Given the description of an element on the screen output the (x, y) to click on. 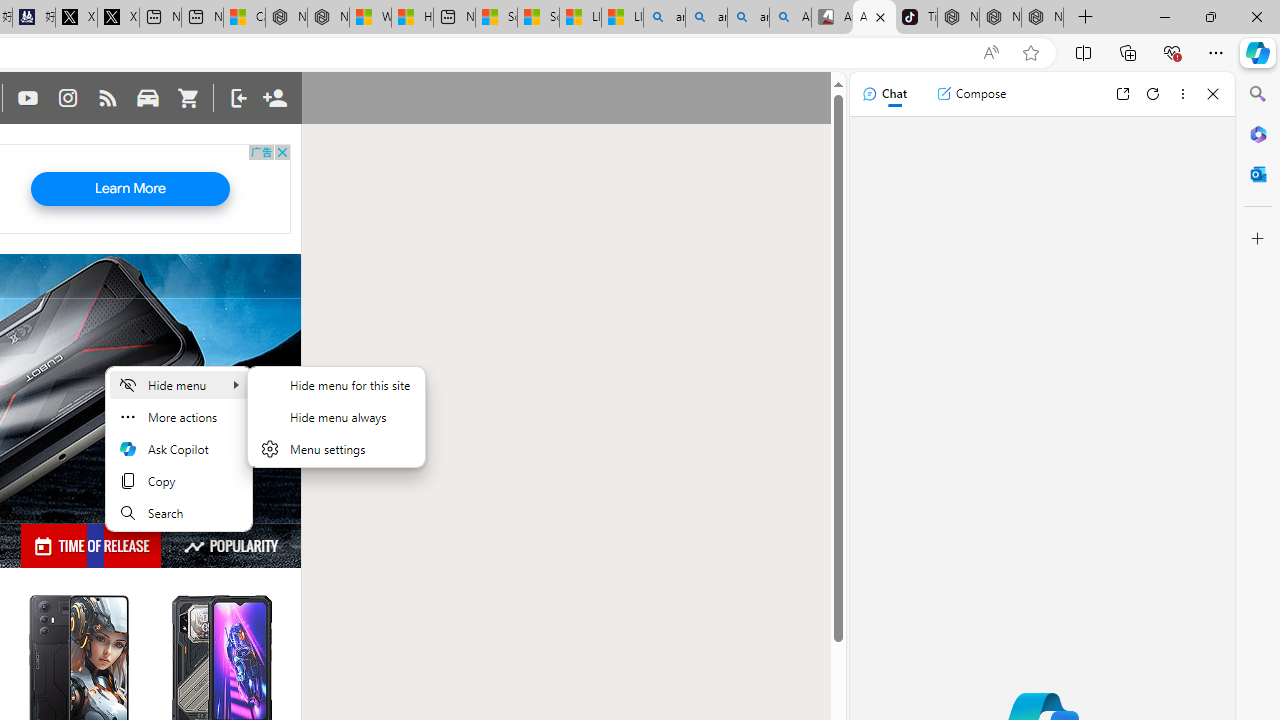
Hide menu (336, 428)
Hide menu (179, 384)
Amazon Echo Robot - Search Images (790, 17)
Hide menu always (336, 416)
Microsoft 365 (1258, 133)
Outlook (1258, 174)
Open link in new tab (1122, 93)
Chat (884, 93)
Nordace - Siena Pro 15 Essential Set (1042, 17)
Huge shark washes ashore at New York City beach | Watch (411, 17)
